Given the description of an element on the screen output the (x, y) to click on. 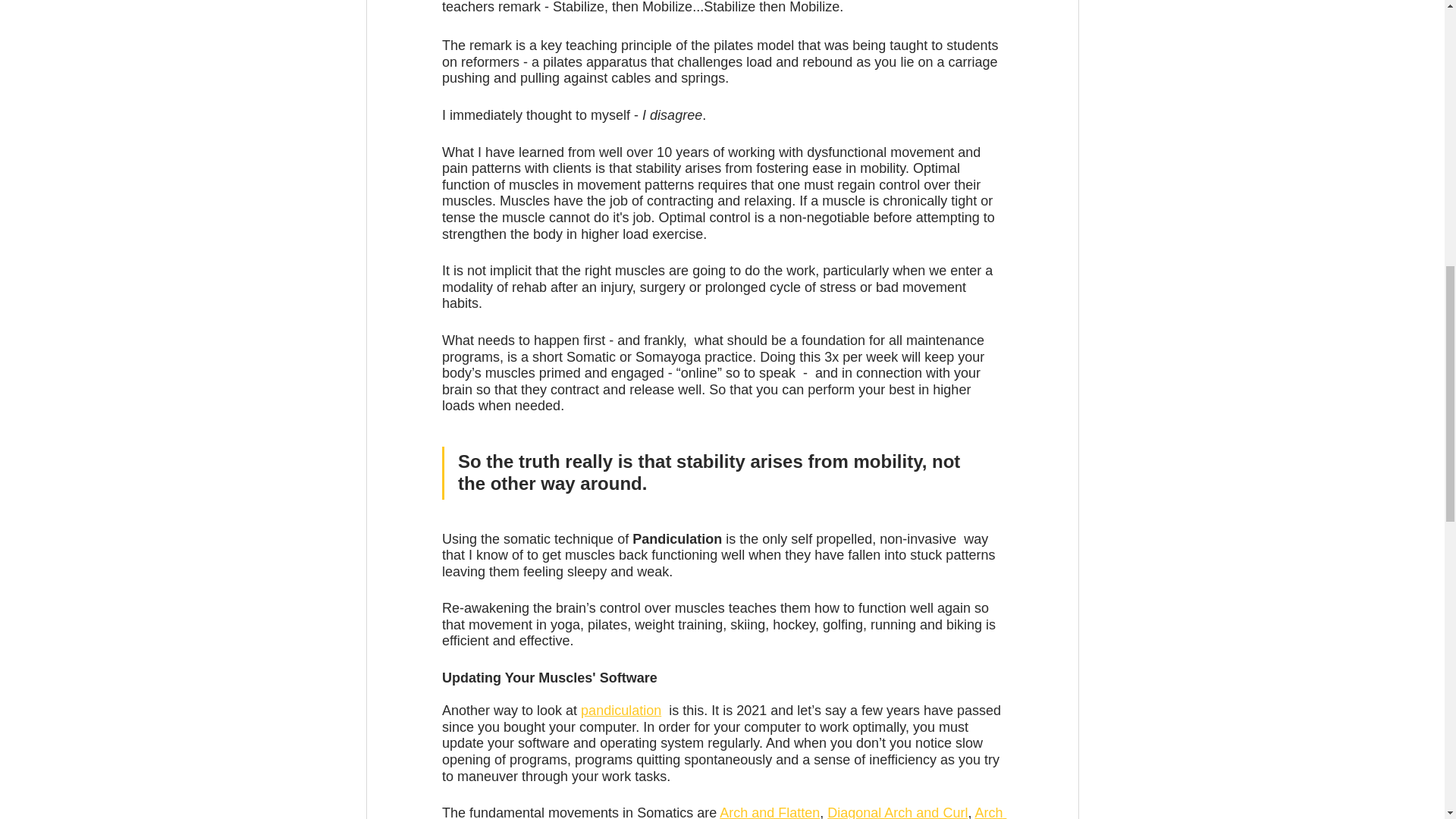
Arch and Flatten (769, 812)
pandiculation (620, 710)
Arch and Curl (723, 812)
Diagonal Arch and Curl (897, 812)
